Given the description of an element on the screen output the (x, y) to click on. 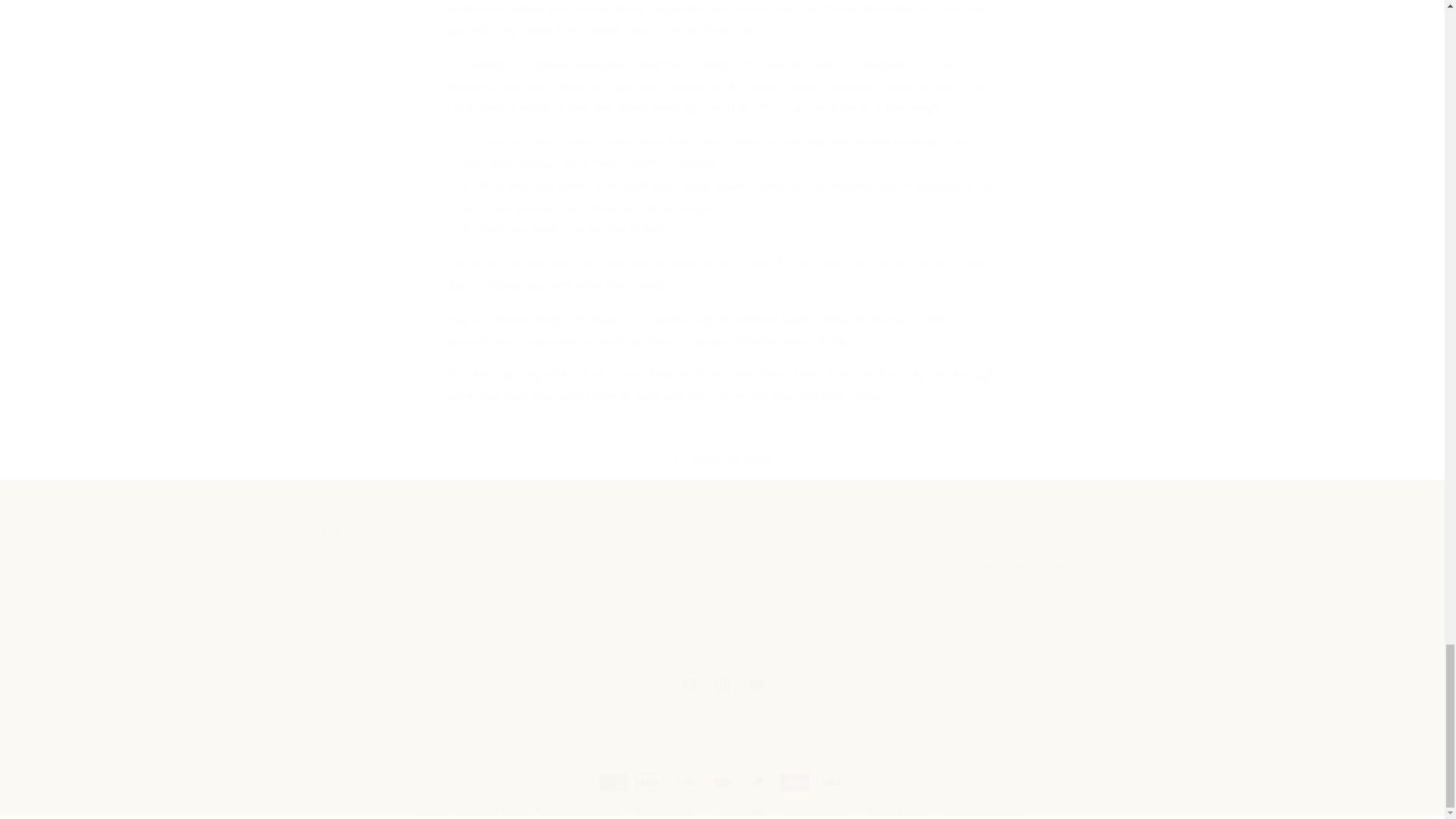
Shop (722, 591)
Consultations (441, 591)
